Given the description of an element on the screen output the (x, y) to click on. 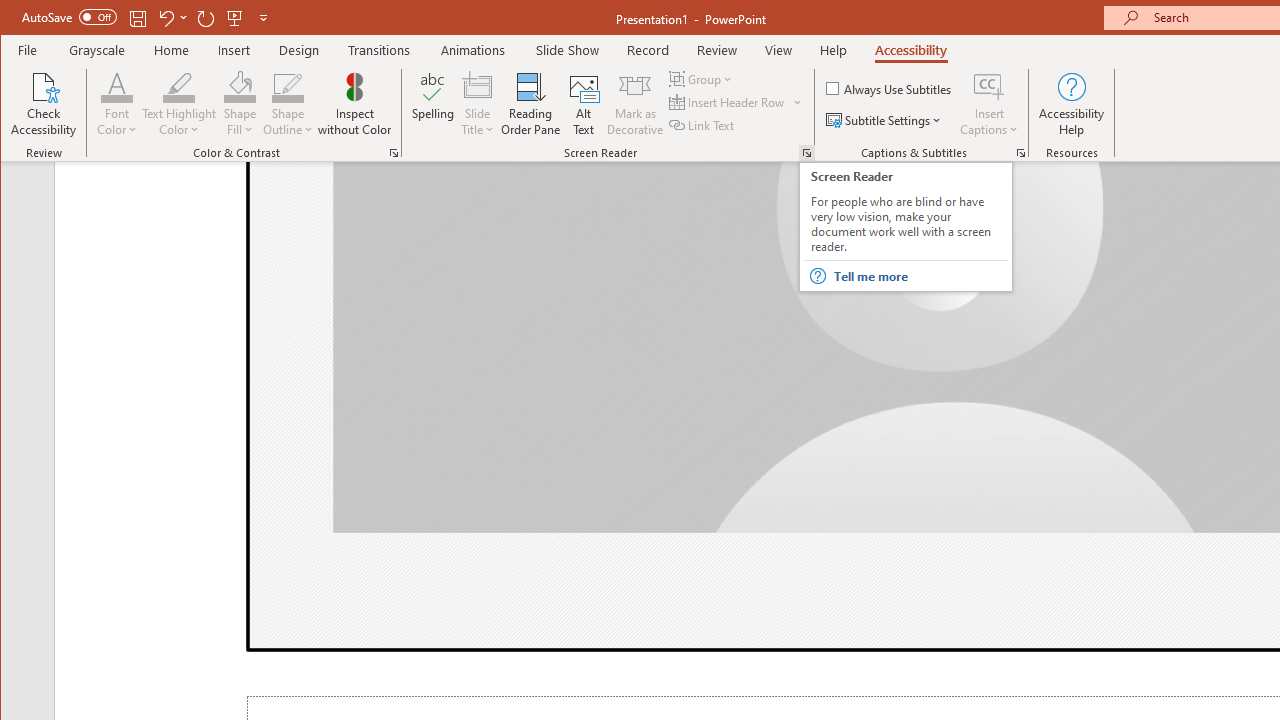
Slide Title (477, 104)
Shape Fill (239, 104)
Shape Outline Blue, Accent 1 (288, 86)
Spelling... (432, 104)
Screen Reader (806, 152)
Group (701, 78)
Inspect without Color (355, 104)
Insert Header Row (728, 101)
Insert Header Row (735, 101)
